Given the description of an element on the screen output the (x, y) to click on. 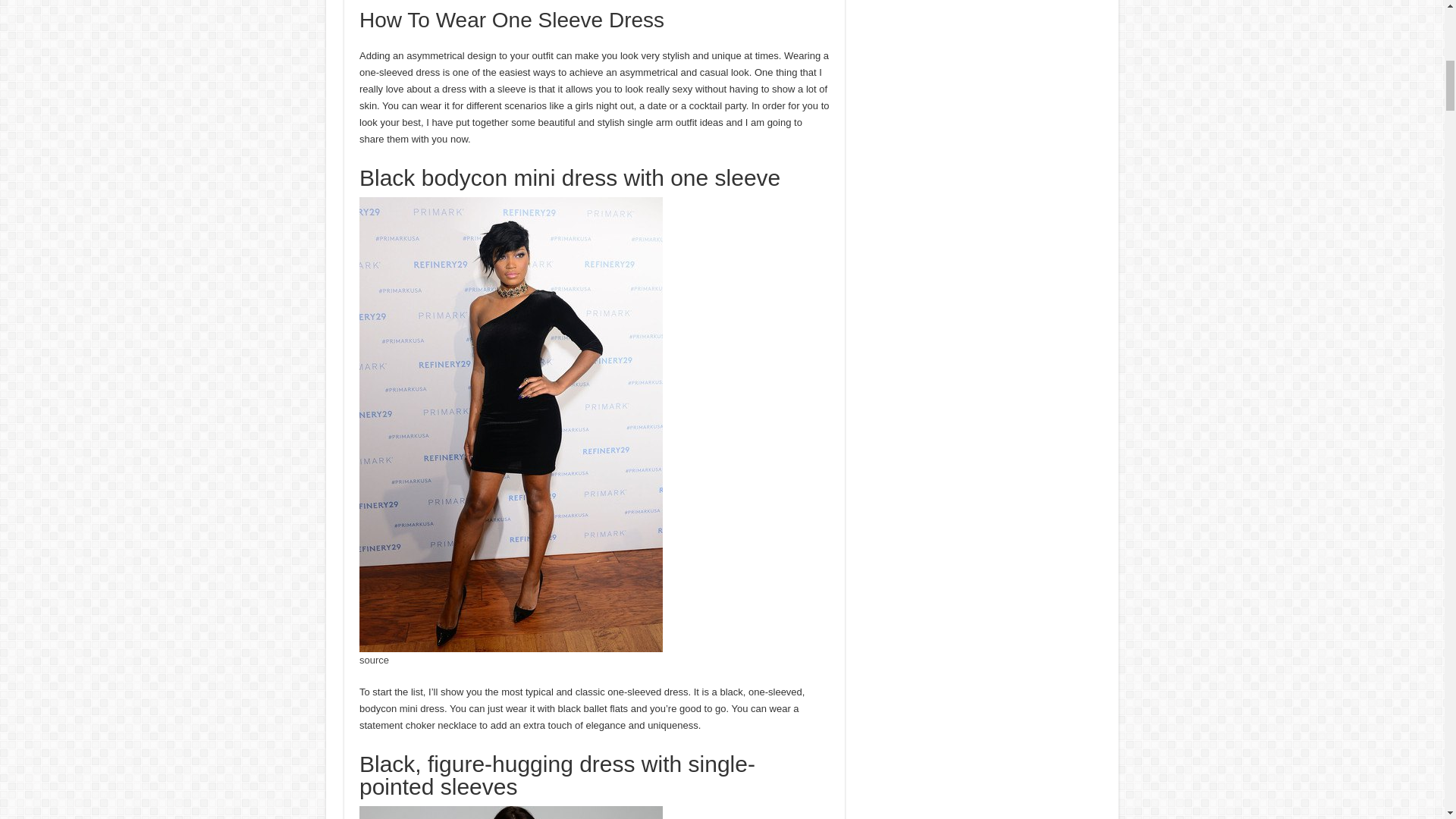
source (373, 659)
Advertisement (594, 4)
